Given the description of an element on the screen output the (x, y) to click on. 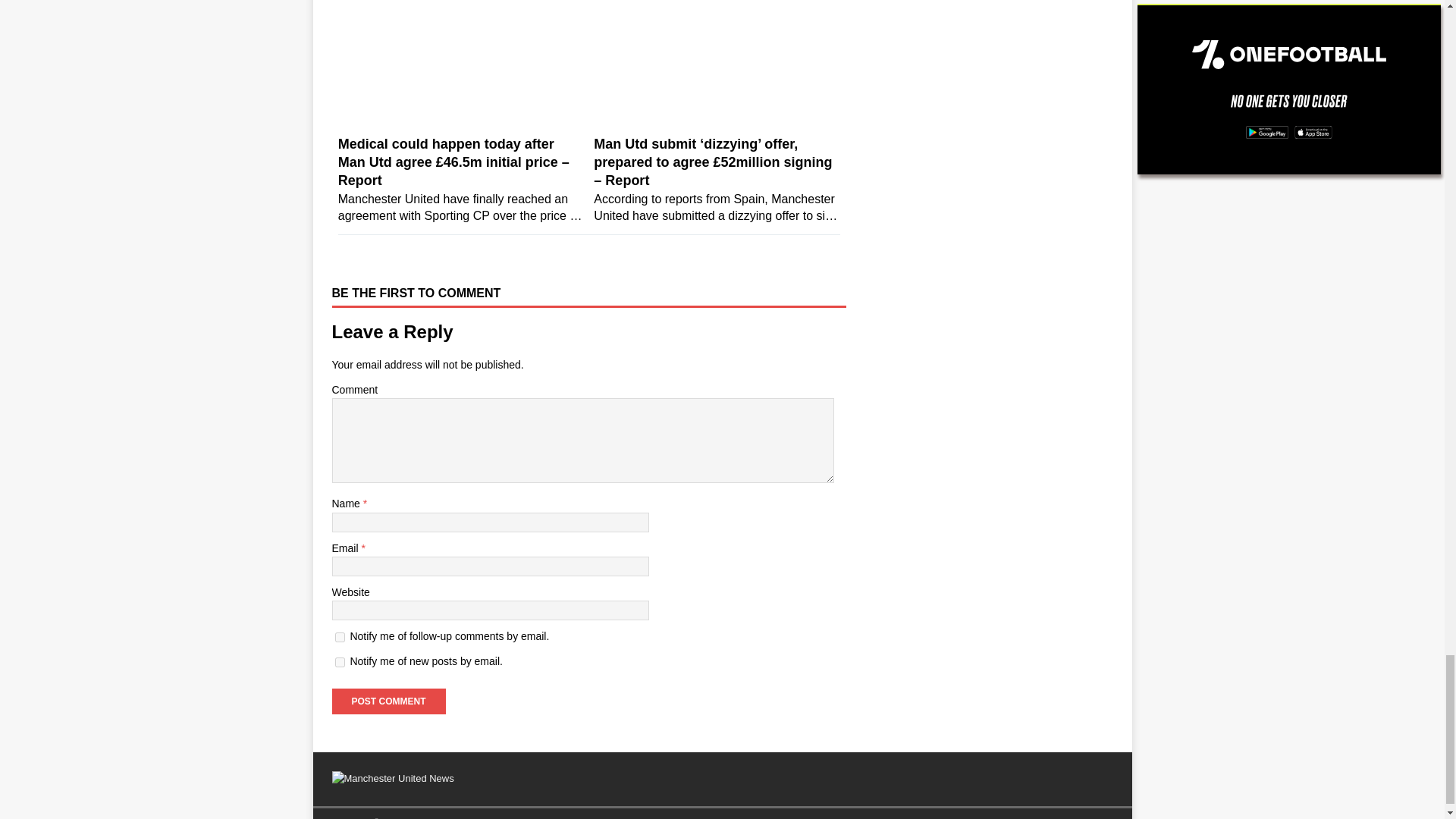
subscribe (339, 637)
subscribe (339, 662)
Post Comment (388, 701)
